Given the description of an element on the screen output the (x, y) to click on. 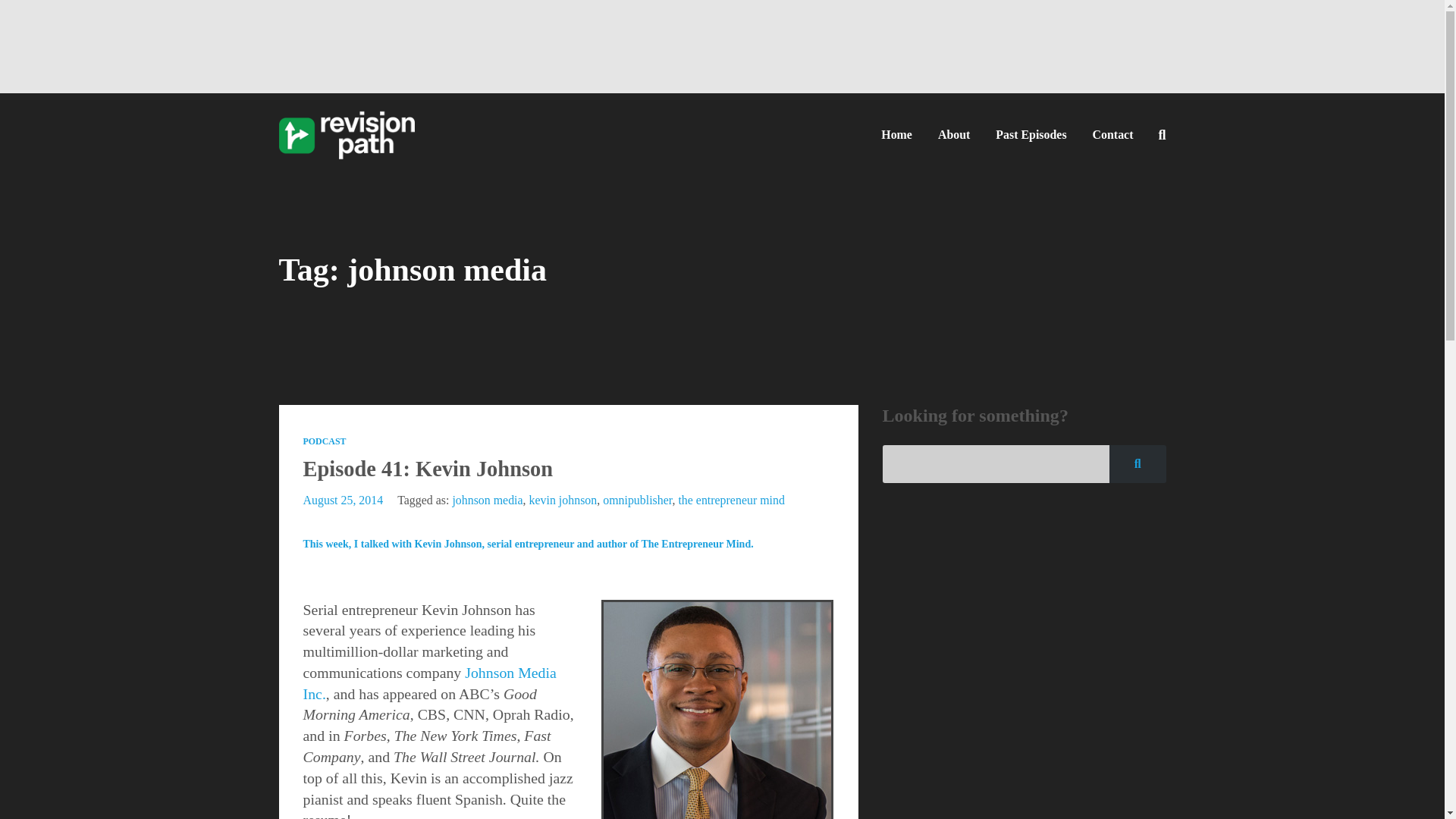
johnson media (486, 499)
Johnson Media Inc. (429, 682)
August 25, 2014 (343, 499)
About (953, 134)
kevin johnson (562, 499)
Episode 41: Kevin Johnson (427, 467)
Contact (1112, 134)
PODCAST (324, 439)
Permalink to Episode 41: Kevin Johnson (427, 467)
Past Episodes (1030, 134)
the entrepreneur mind (731, 499)
Home (896, 134)
omnipublisher (636, 499)
